Given the description of an element on the screen output the (x, y) to click on. 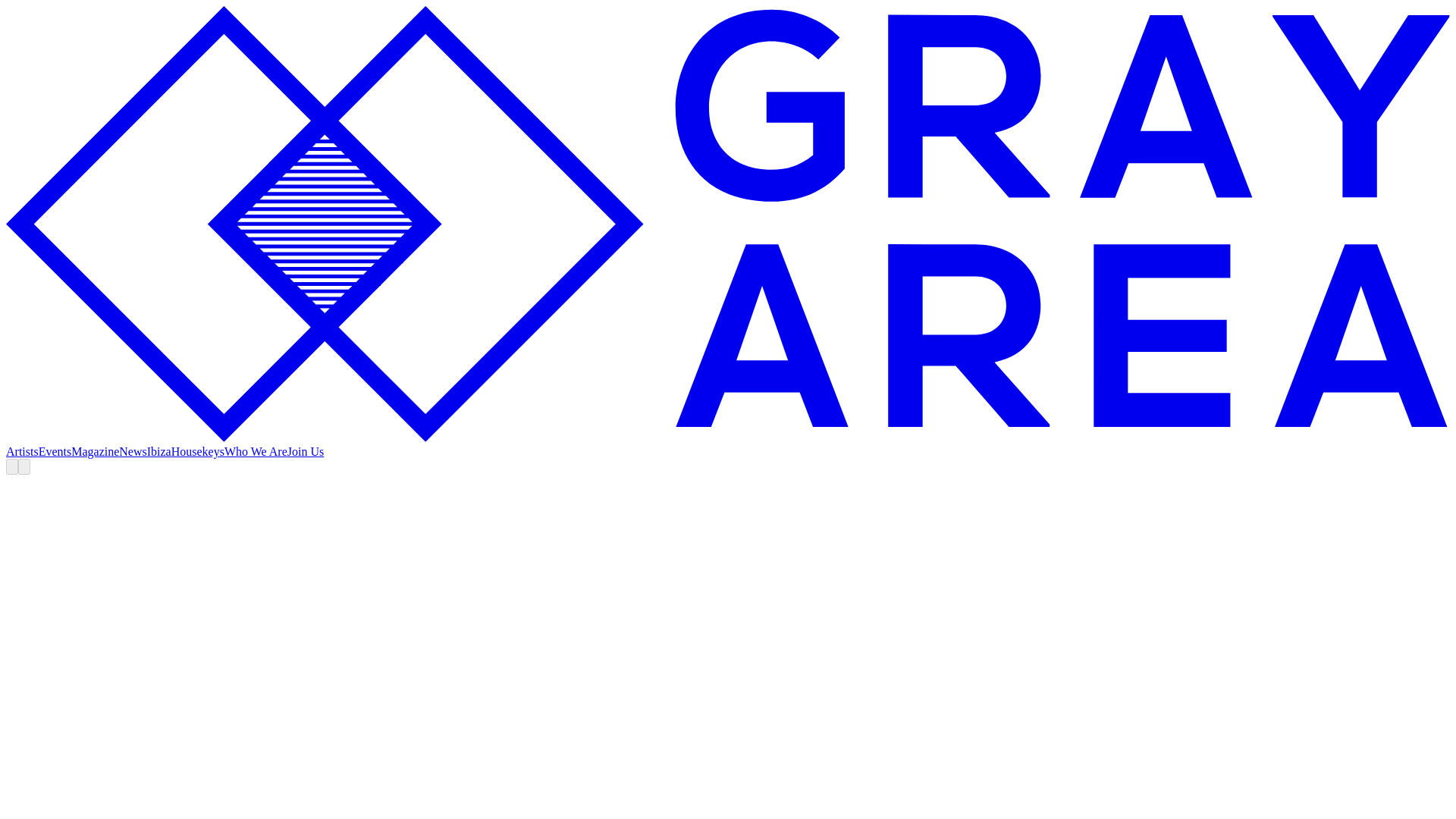
Join Us (304, 451)
Magazine (95, 451)
Who We Are (255, 451)
Housekeys (197, 451)
Ibiza (159, 451)
Events (55, 451)
Artists (22, 451)
News (133, 451)
